Given the description of an element on the screen output the (x, y) to click on. 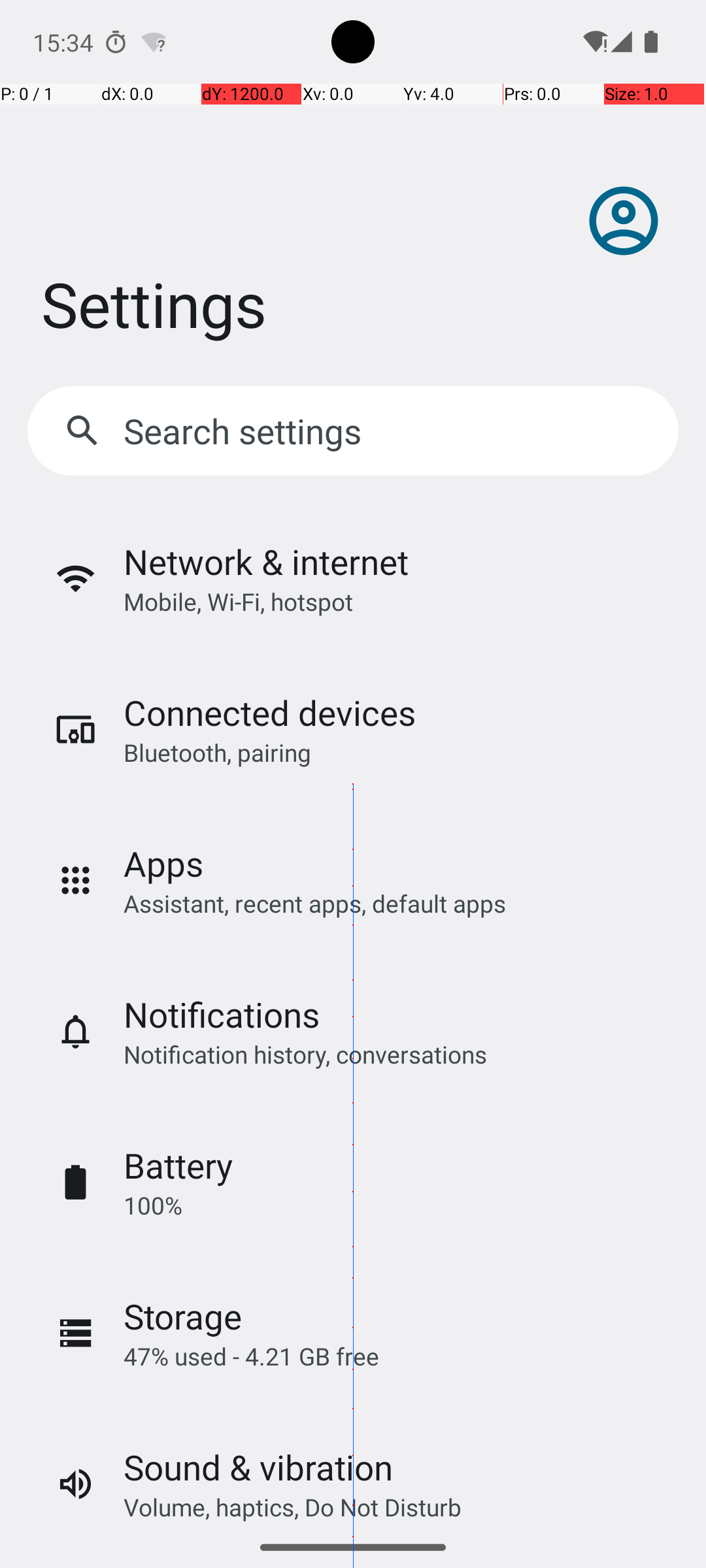
47% used - 4.21 GB free Element type: android.widget.TextView (251, 1355)
